Given the description of an element on the screen output the (x, y) to click on. 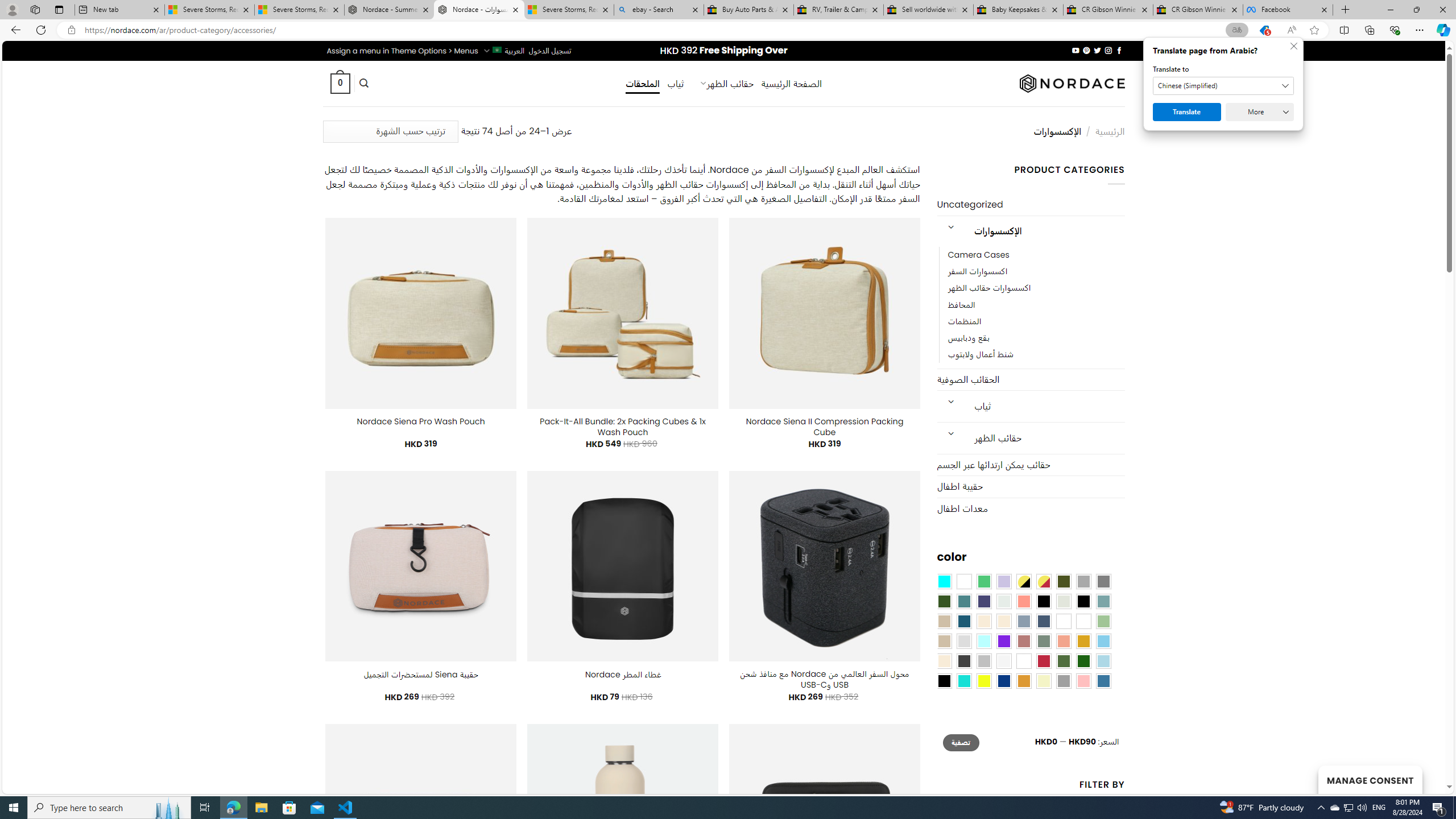
Clear (963, 581)
Light-Gray (963, 640)
MANAGE CONSENT (1369, 779)
Sage (1043, 640)
